Given the description of an element on the screen output the (x, y) to click on. 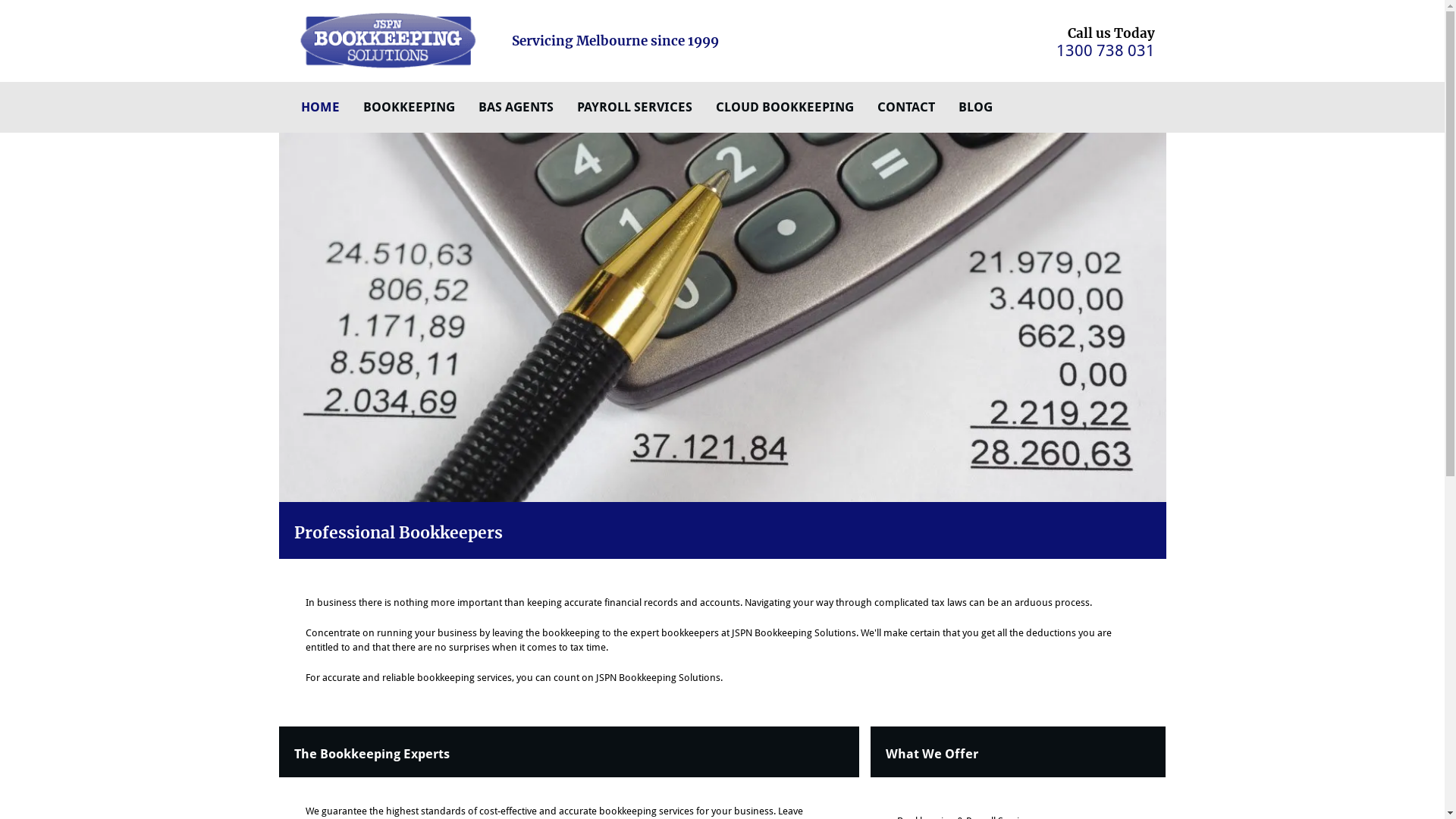
JSPN Bookkeeping Home Hero Element type: hover (722, 317)
JSPN Bookkeeping Logo Image Element type: hover (389, 40)
BAS AGENTS Element type: text (514, 106)
CLOUD BOOKKEEPING Element type: text (784, 106)
CONTACT Element type: text (905, 106)
PAYROLL SERVICES Element type: text (633, 106)
BLOG Element type: text (975, 106)
1300 738 031 Element type: text (1104, 49)
HOME Element type: text (319, 106)
BOOKKEEPING Element type: text (408, 106)
